Given the description of an element on the screen output the (x, y) to click on. 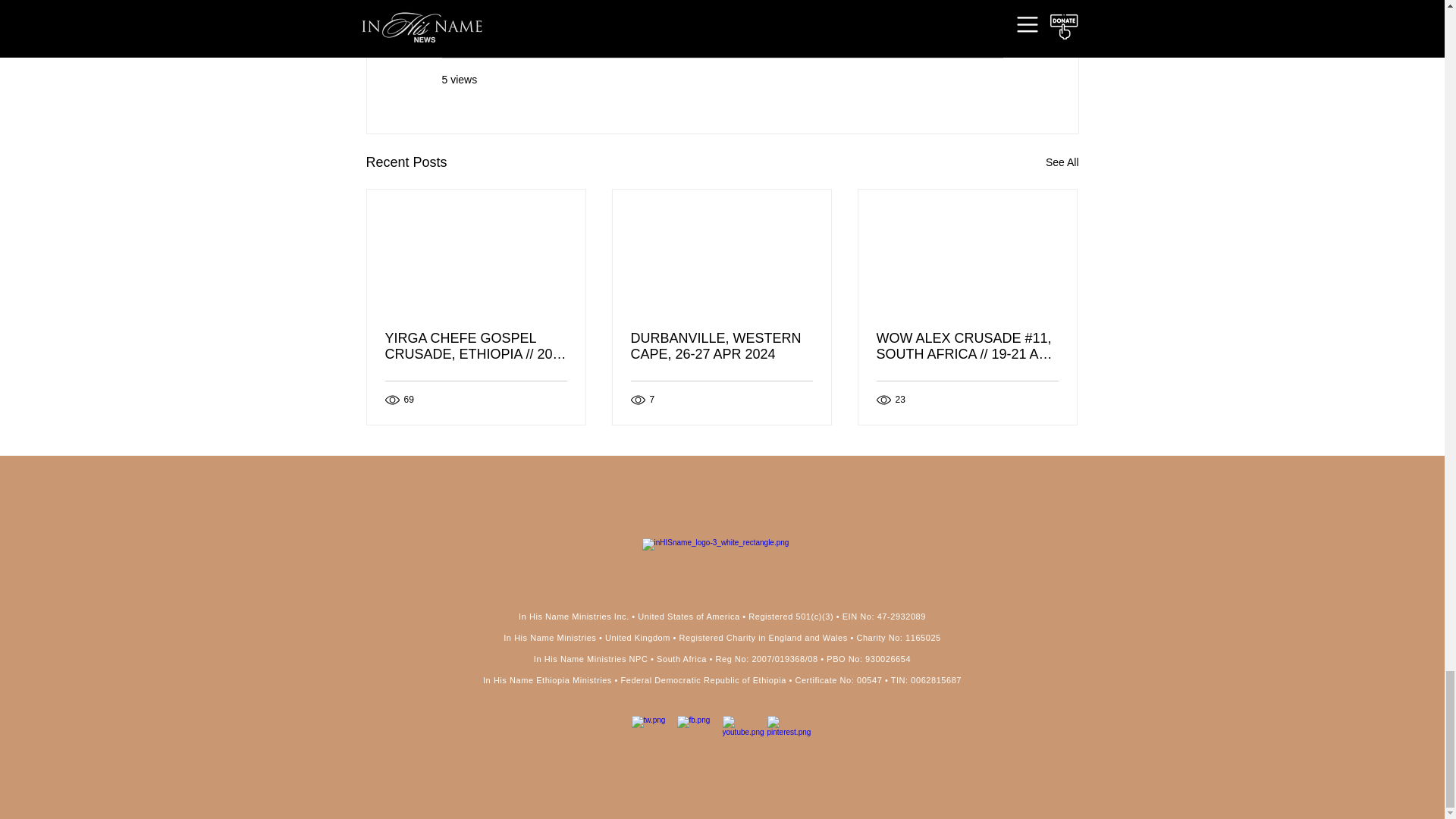
See All (1061, 162)
DURBANVILLE, WESTERN CAPE, 26-27 APR 2024 (721, 346)
